Given the description of an element on the screen output the (x, y) to click on. 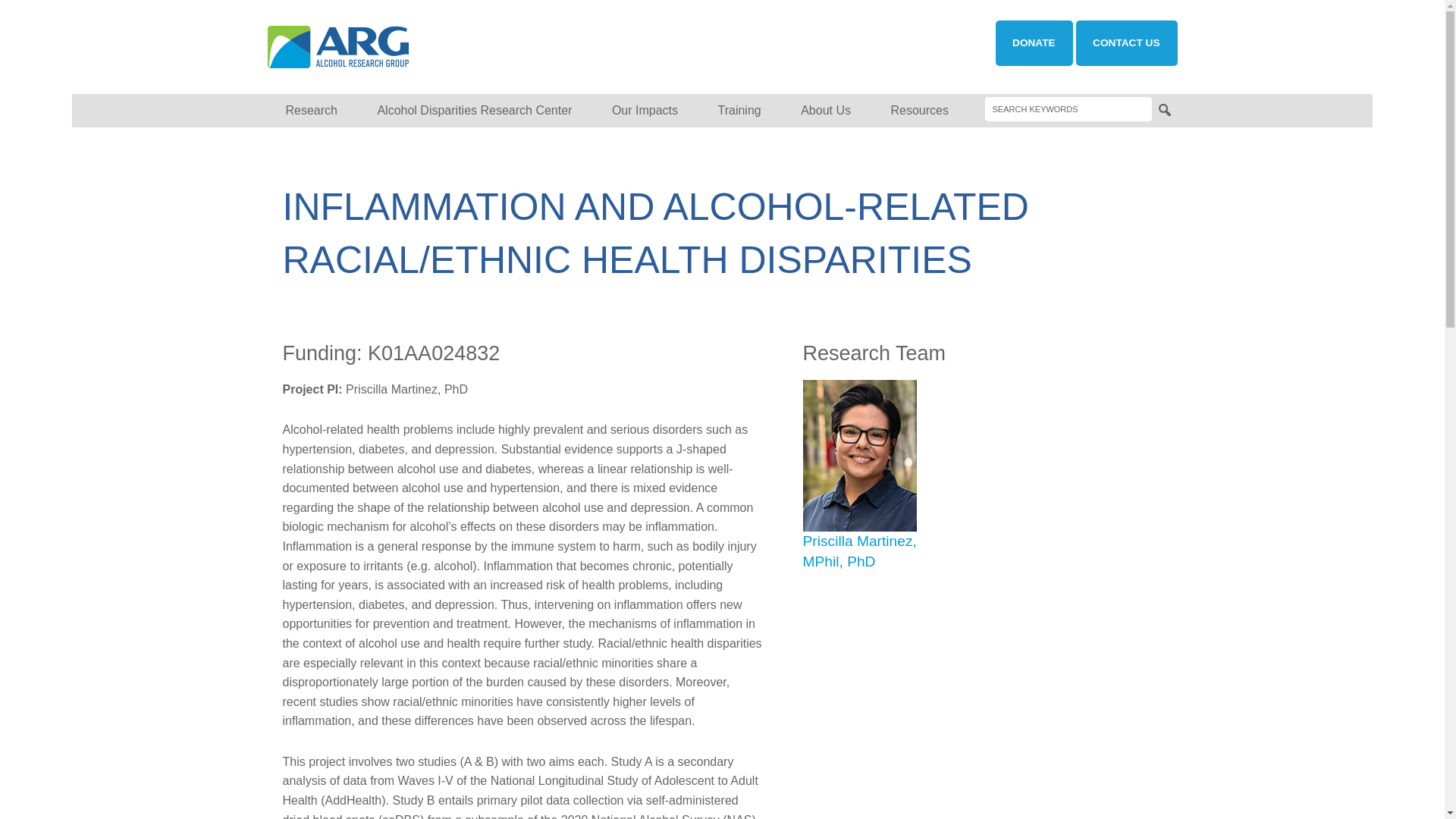
DONATE (1034, 43)
Alcohol Research Group (392, 47)
About Us (826, 110)
Training (738, 110)
Our Impacts (644, 110)
Research (310, 110)
Alcohol Disparities Research Center (473, 110)
CONTACT US (1125, 43)
